Given the description of an element on the screen output the (x, y) to click on. 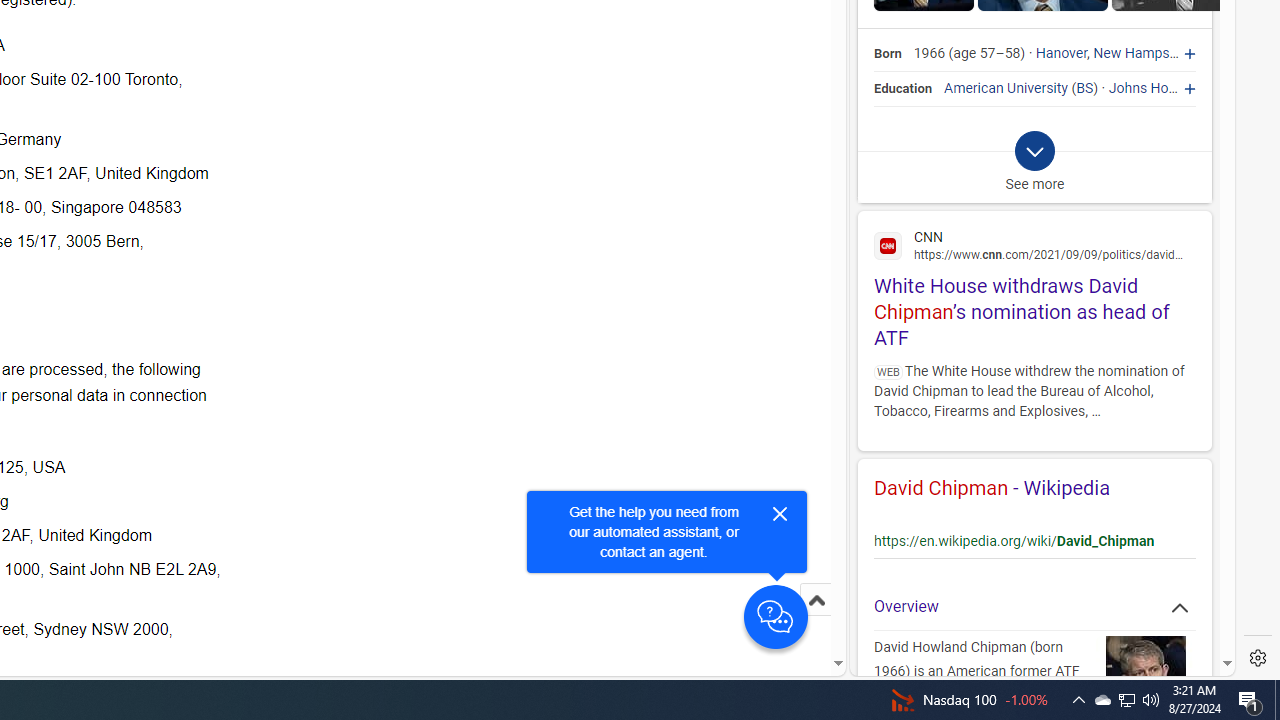
Scroll to top (816, 599)
New Hampshire (1142, 53)
BS (1085, 88)
Hanover (1061, 53)
CNN (1034, 244)
American University (1005, 88)
